Given the description of an element on the screen output the (x, y) to click on. 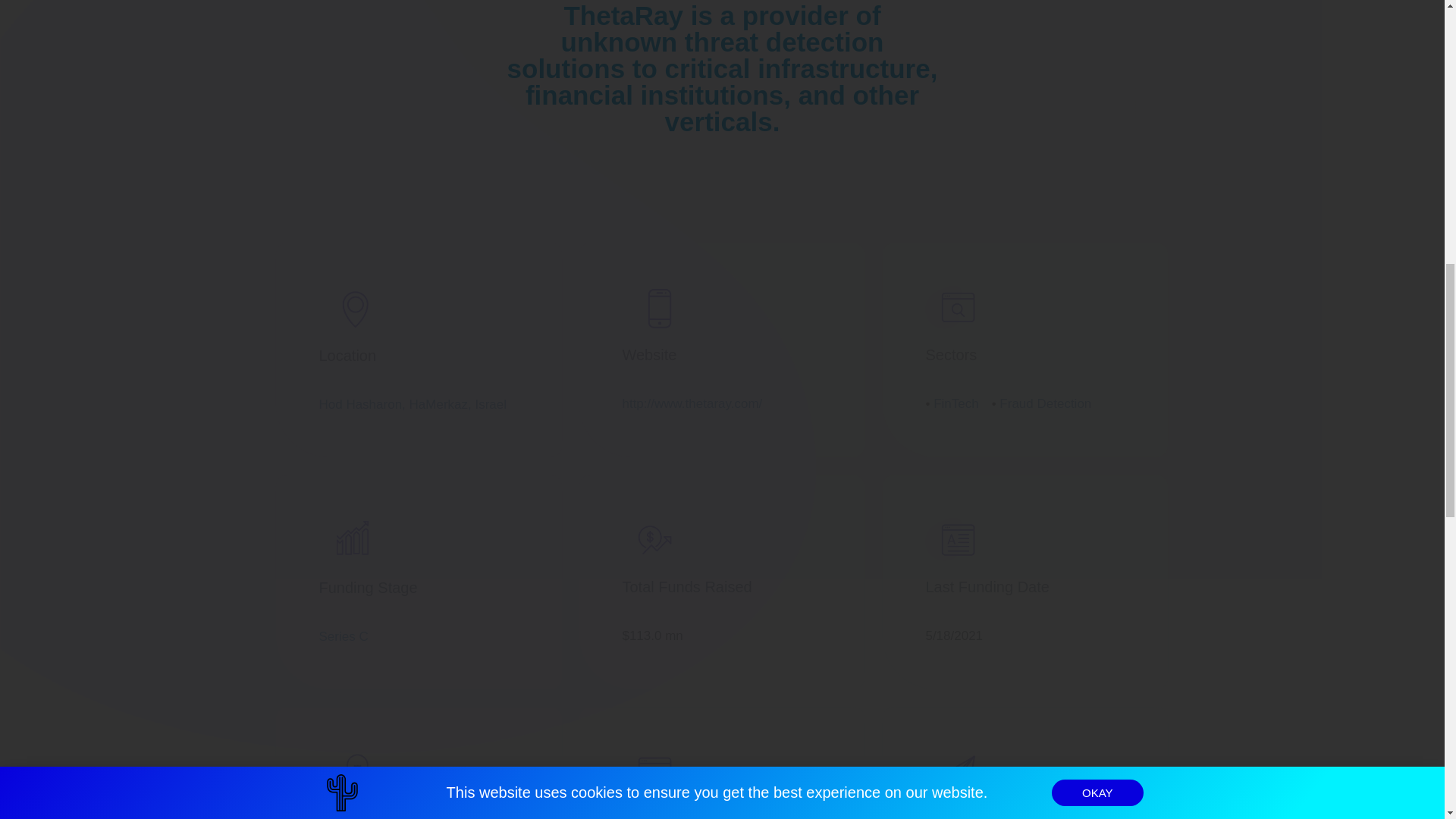
Series C (343, 636)
Fraud Detection (1044, 403)
Hod Hasharon, HaMerkaz, Israel (412, 404)
FinTech (955, 403)
